Given the description of an element on the screen output the (x, y) to click on. 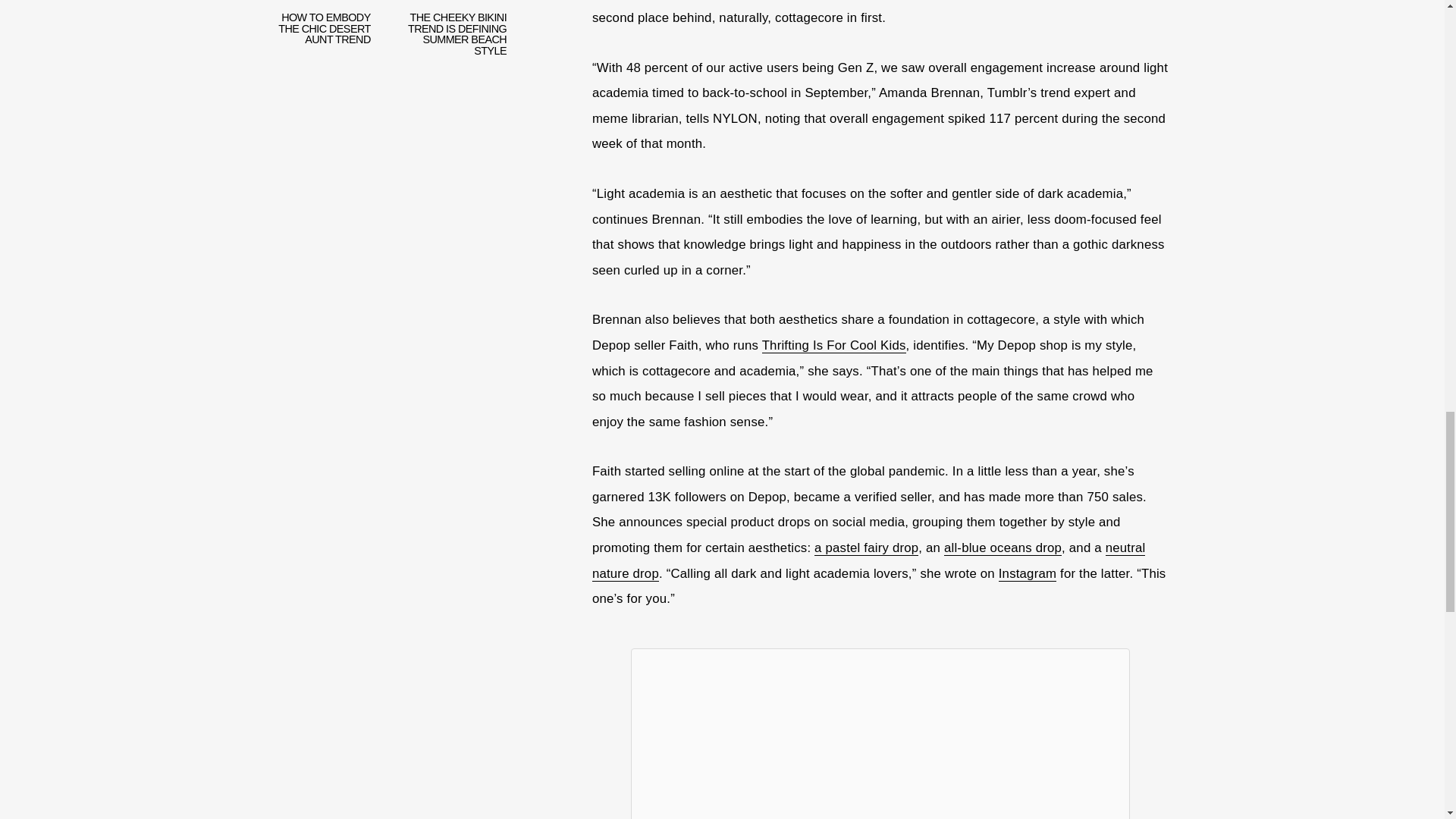
Instagram (1027, 573)
HOW TO EMBODY THE CHIC DESERT AUNT TREND (314, 40)
neutral nature drop (868, 560)
all-blue oceans drop (1002, 548)
THE CHEEKY BIKINI TREND IS DEFINING SUMMER BEACH STYLE (450, 40)
a pastel fairy drop (865, 548)
Thrifting Is For Cool Kids (833, 345)
